Given the description of an element on the screen output the (x, y) to click on. 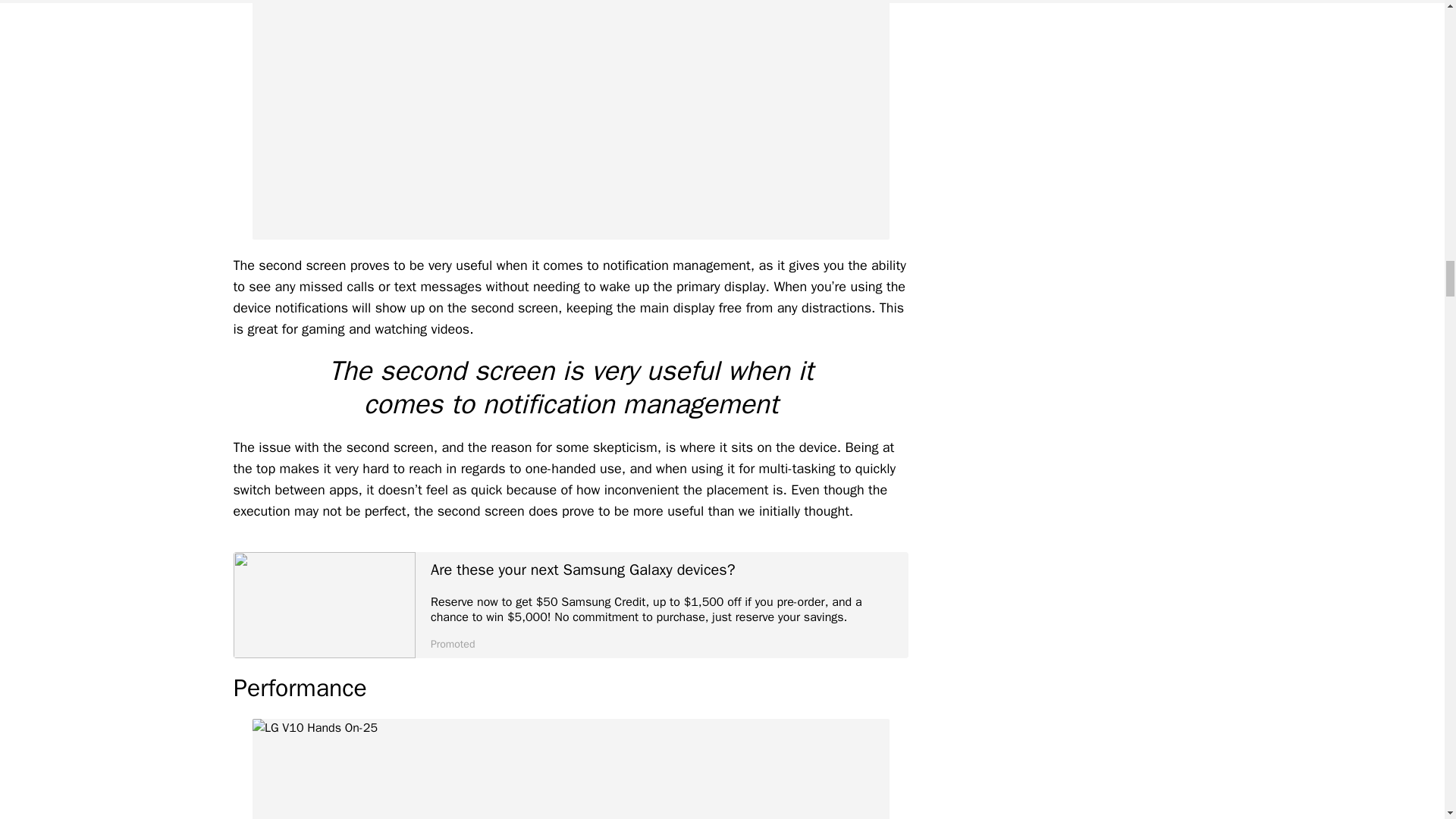
LG V10 Hands On-25 (569, 769)
